Given the description of an element on the screen output the (x, y) to click on. 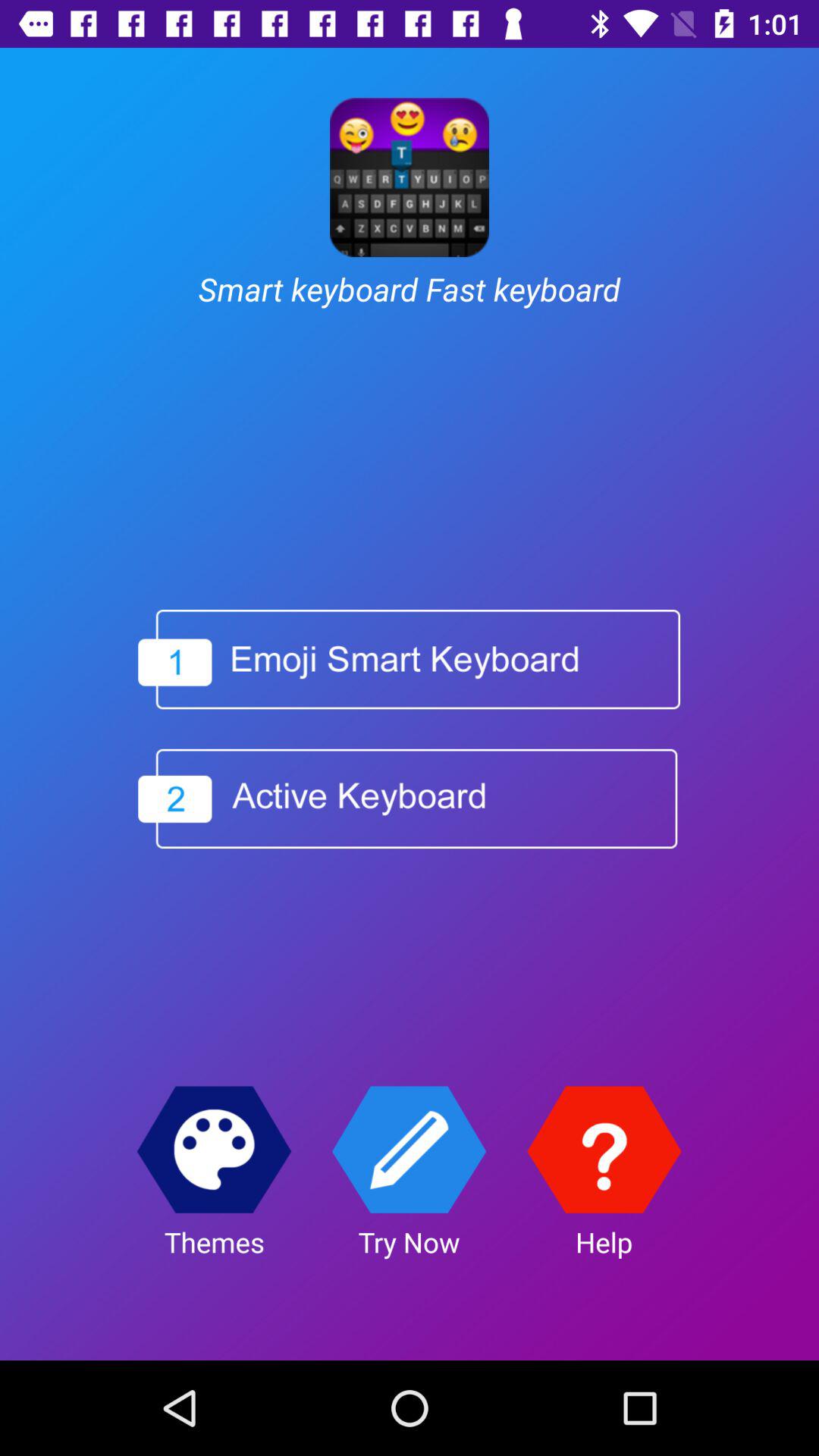
use feature (408, 1149)
